Given the description of an element on the screen output the (x, y) to click on. 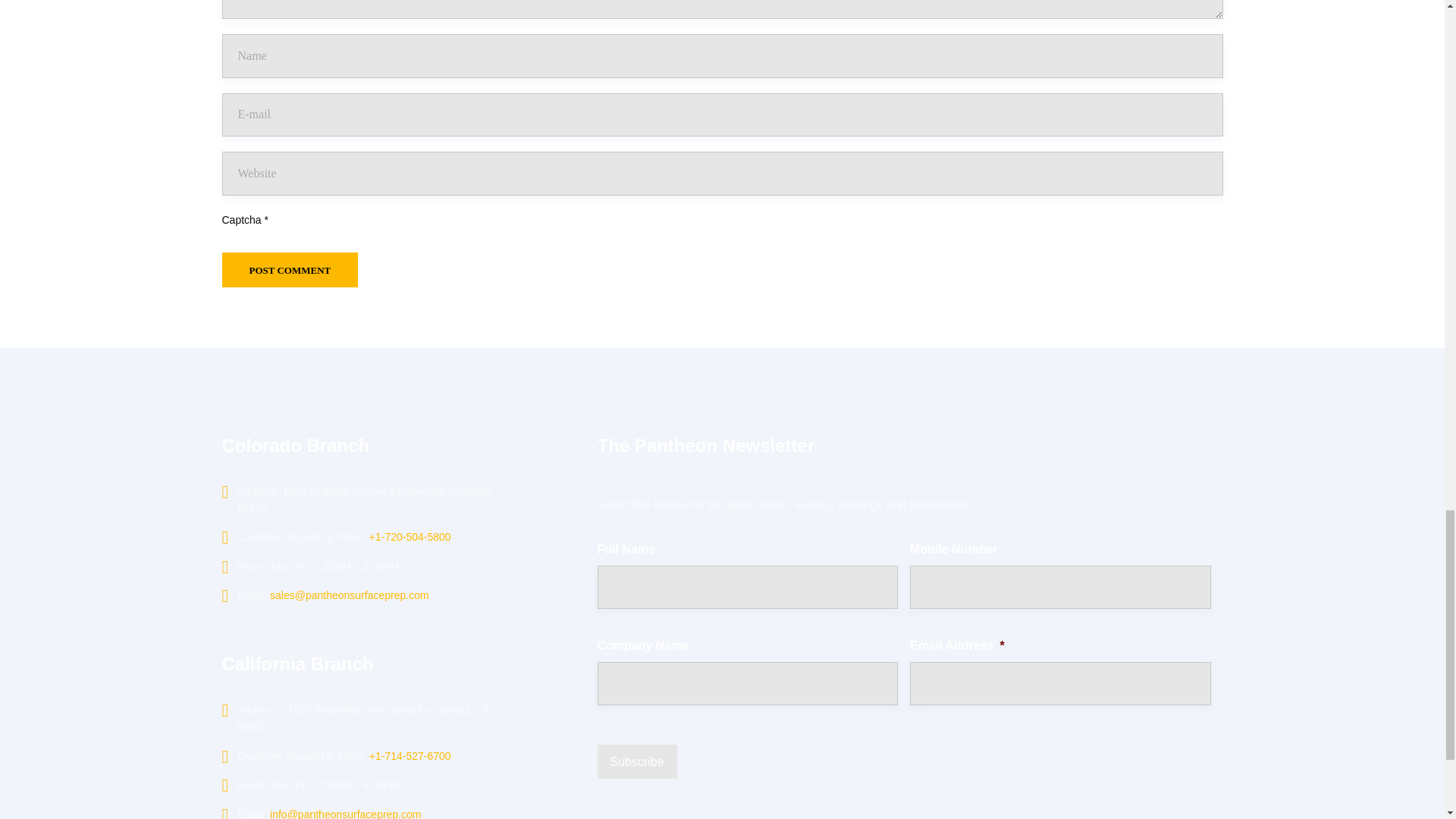
Subscribe (636, 761)
Post Comment (289, 269)
